Given the description of an element on the screen output the (x, y) to click on. 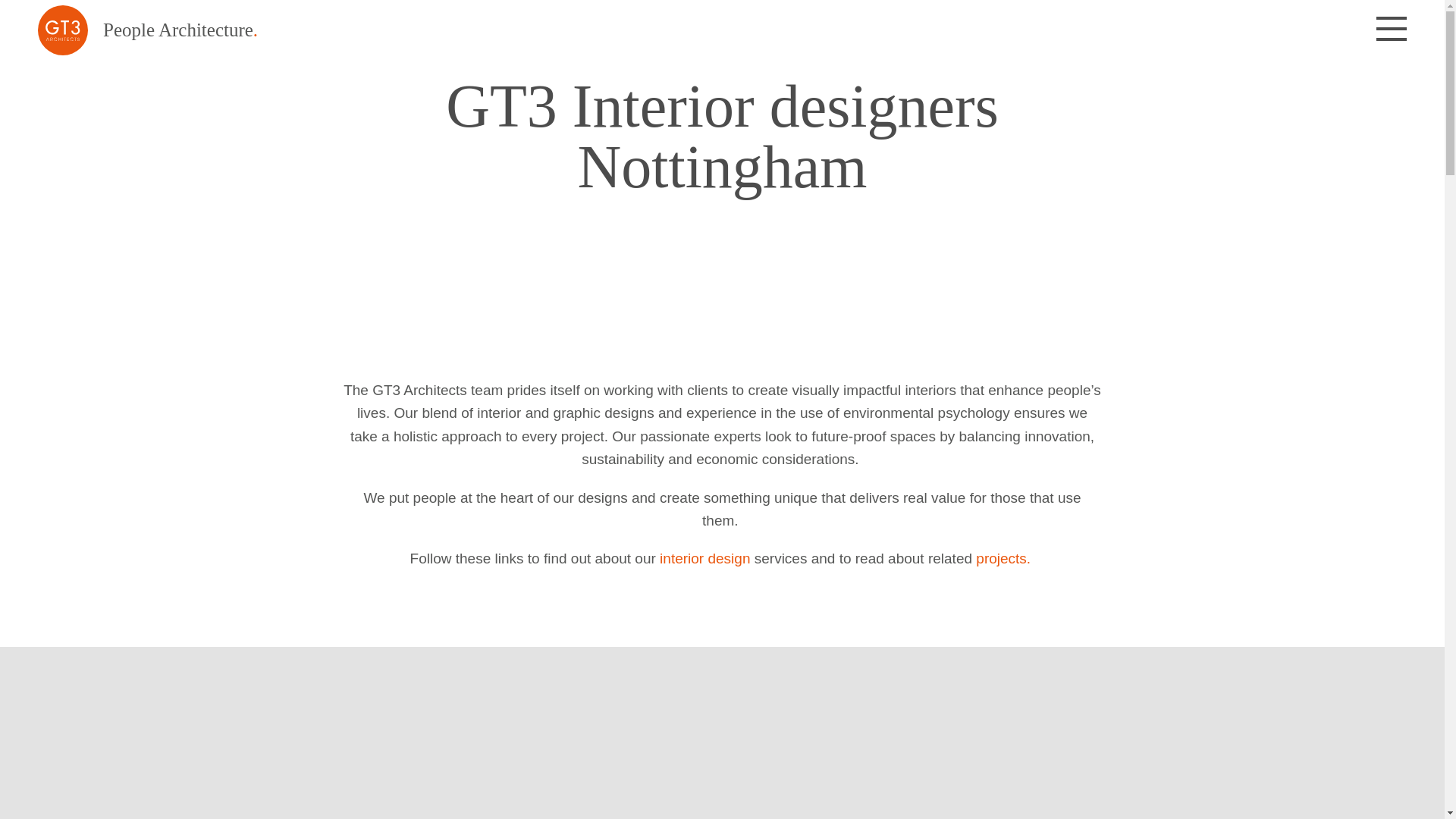
interior design (704, 558)
projects. (1002, 558)
